Given the description of an element on the screen output the (x, y) to click on. 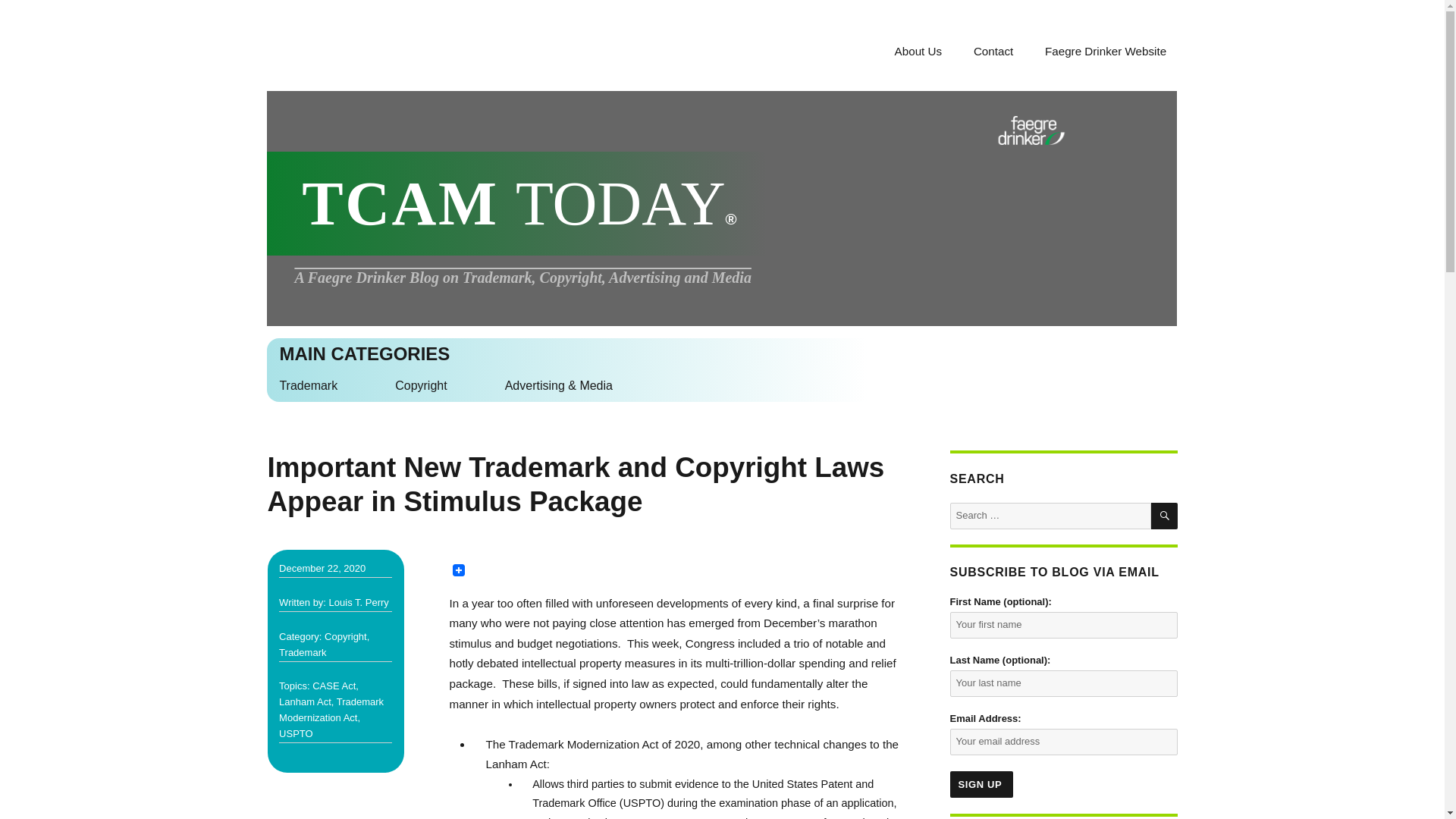
Copyright (345, 636)
Posts by Louis T. Perry (358, 602)
CASE Act (334, 685)
USPTO (296, 733)
Trademark Modernization Act (331, 709)
Sign up  (981, 784)
Louis T. Perry (358, 602)
Sign up  (981, 784)
SEARCH (1164, 515)
Copyright (420, 386)
Contact (993, 51)
Lanham Act (305, 701)
Trademark (307, 386)
Trademark (302, 652)
About Us (917, 51)
